Given the description of an element on the screen output the (x, y) to click on. 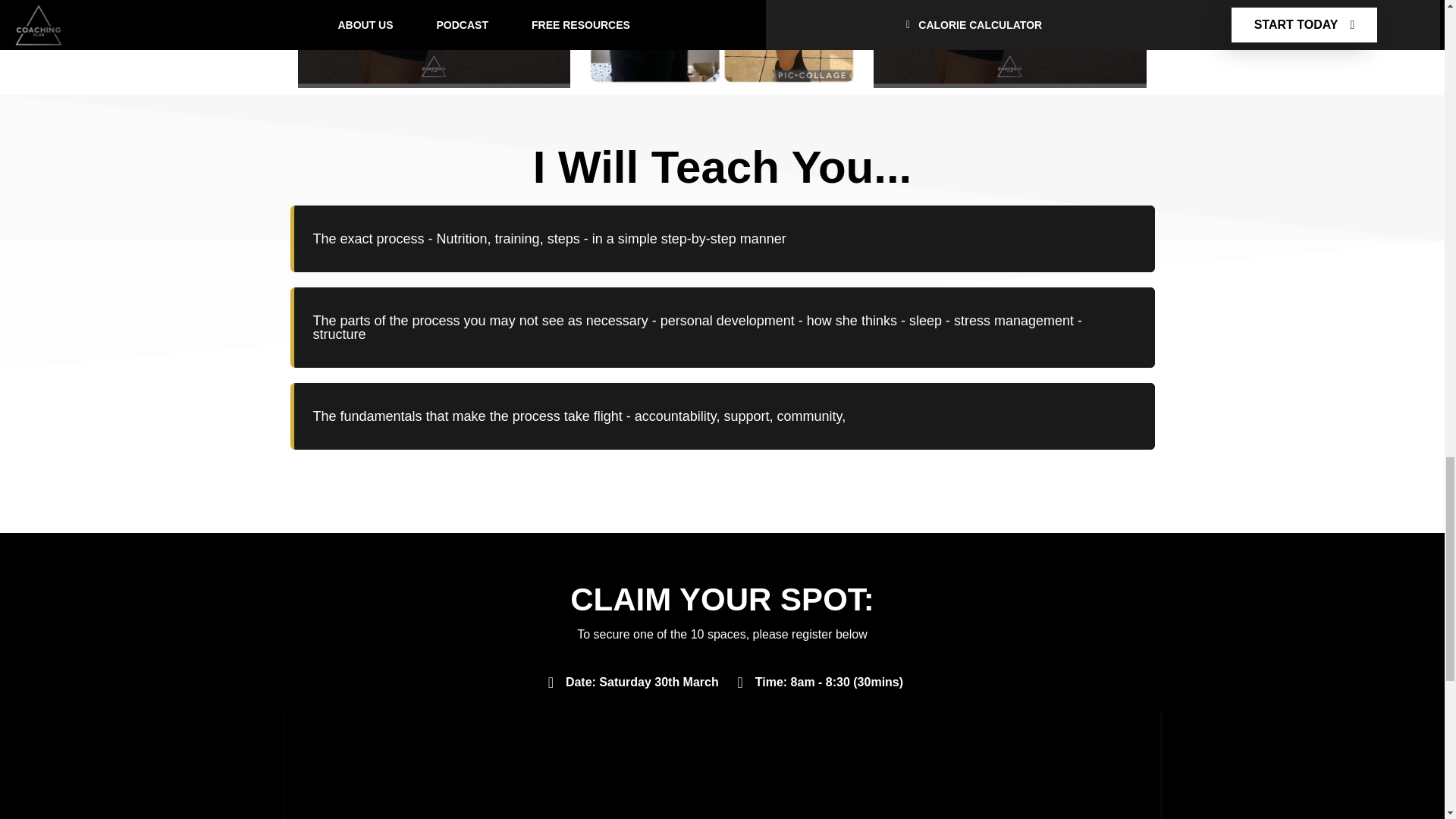
Cazzy Webinar (722, 762)
